Given the description of an element on the screen output the (x, y) to click on. 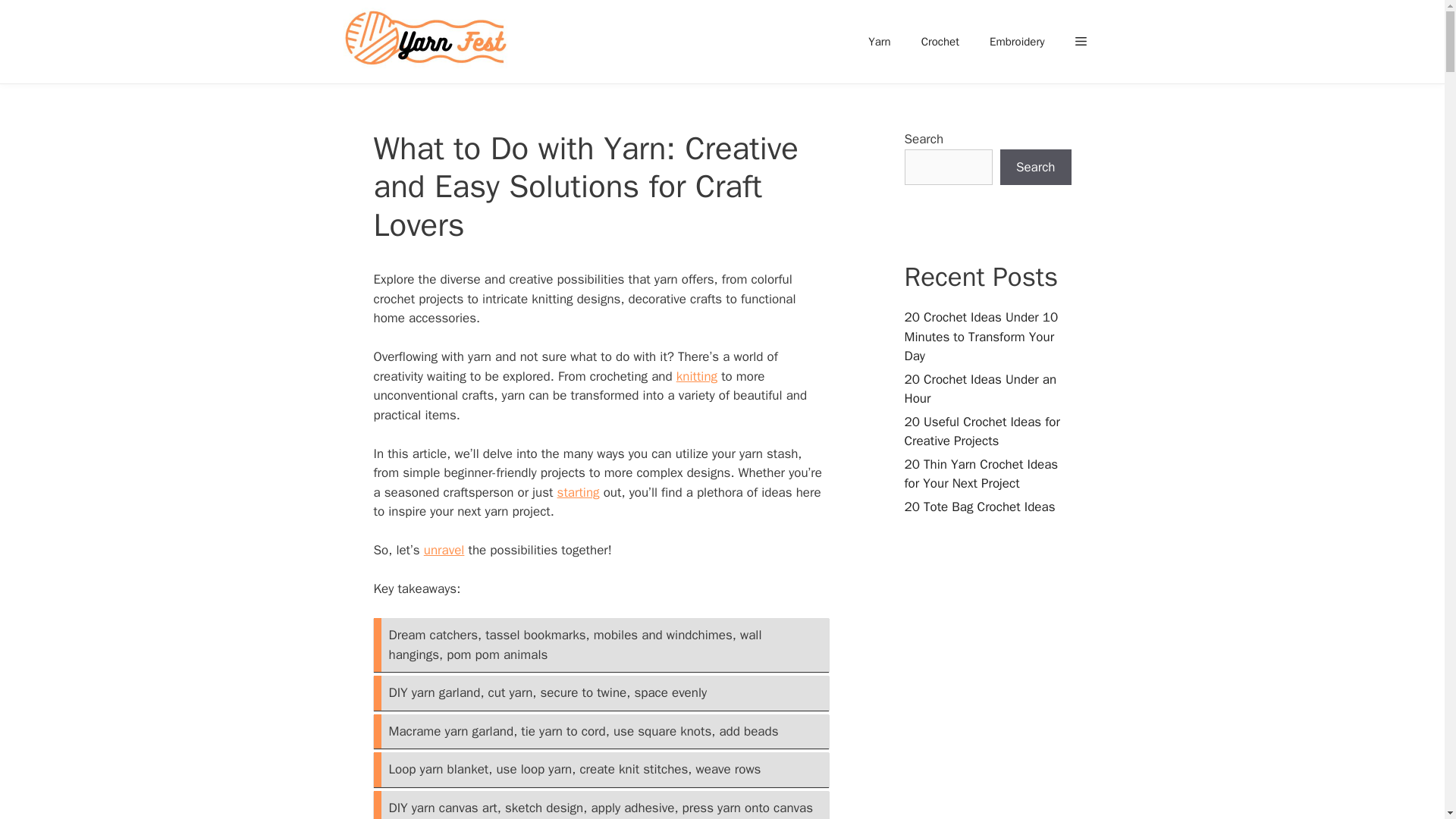
Embroidery (1016, 41)
20 Crochet Ideas Under an Hour (980, 389)
20 Useful Crochet Ideas for Creative Projects (981, 431)
starting (578, 492)
knitting (697, 376)
Yarn Fest (429, 41)
unravel (443, 549)
Yarn Fest (425, 41)
Search (1035, 166)
Yarn (879, 41)
